Given the description of an element on the screen output the (x, y) to click on. 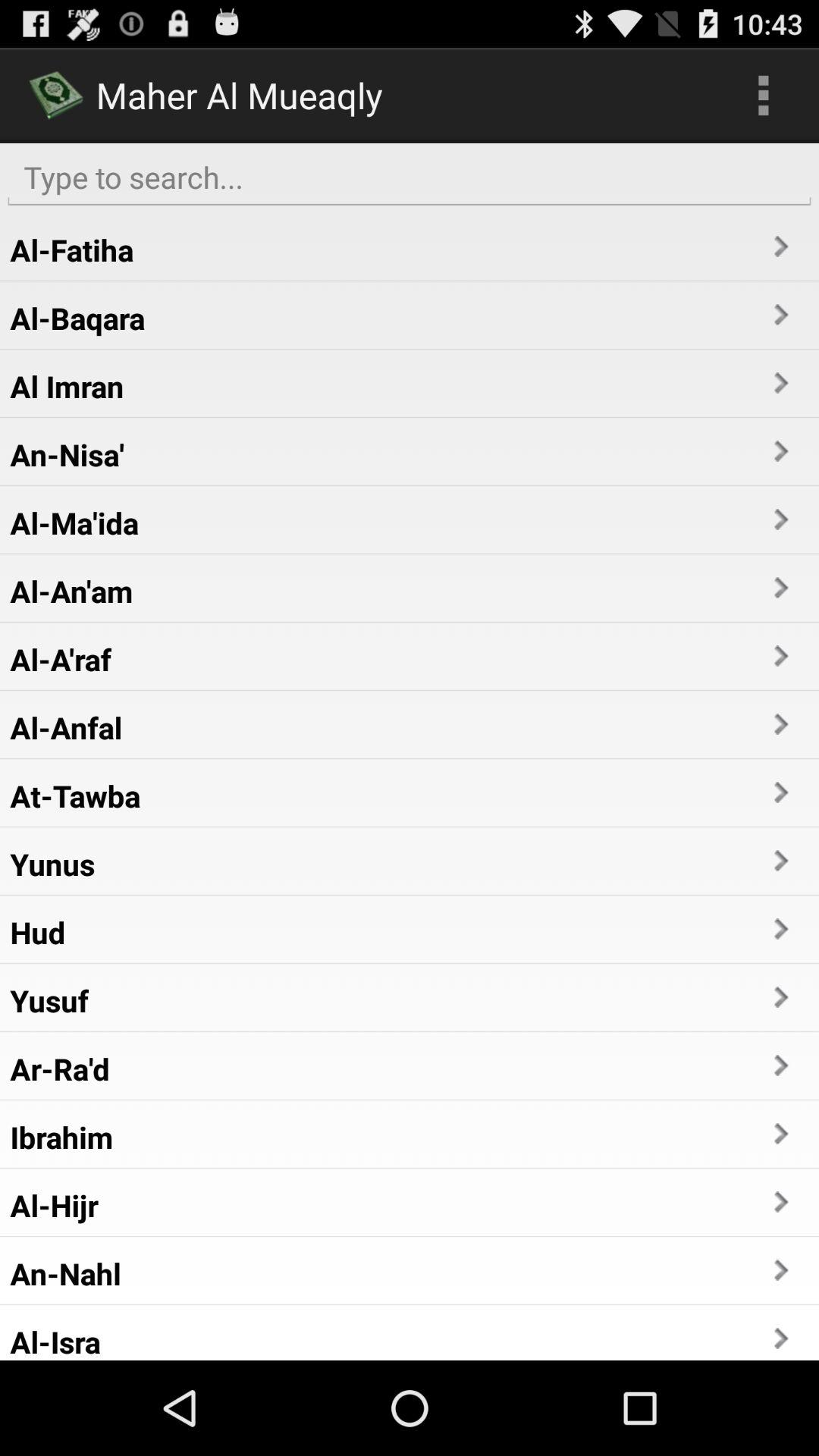
launch app above yusuf item (37, 932)
